Given the description of an element on the screen output the (x, y) to click on. 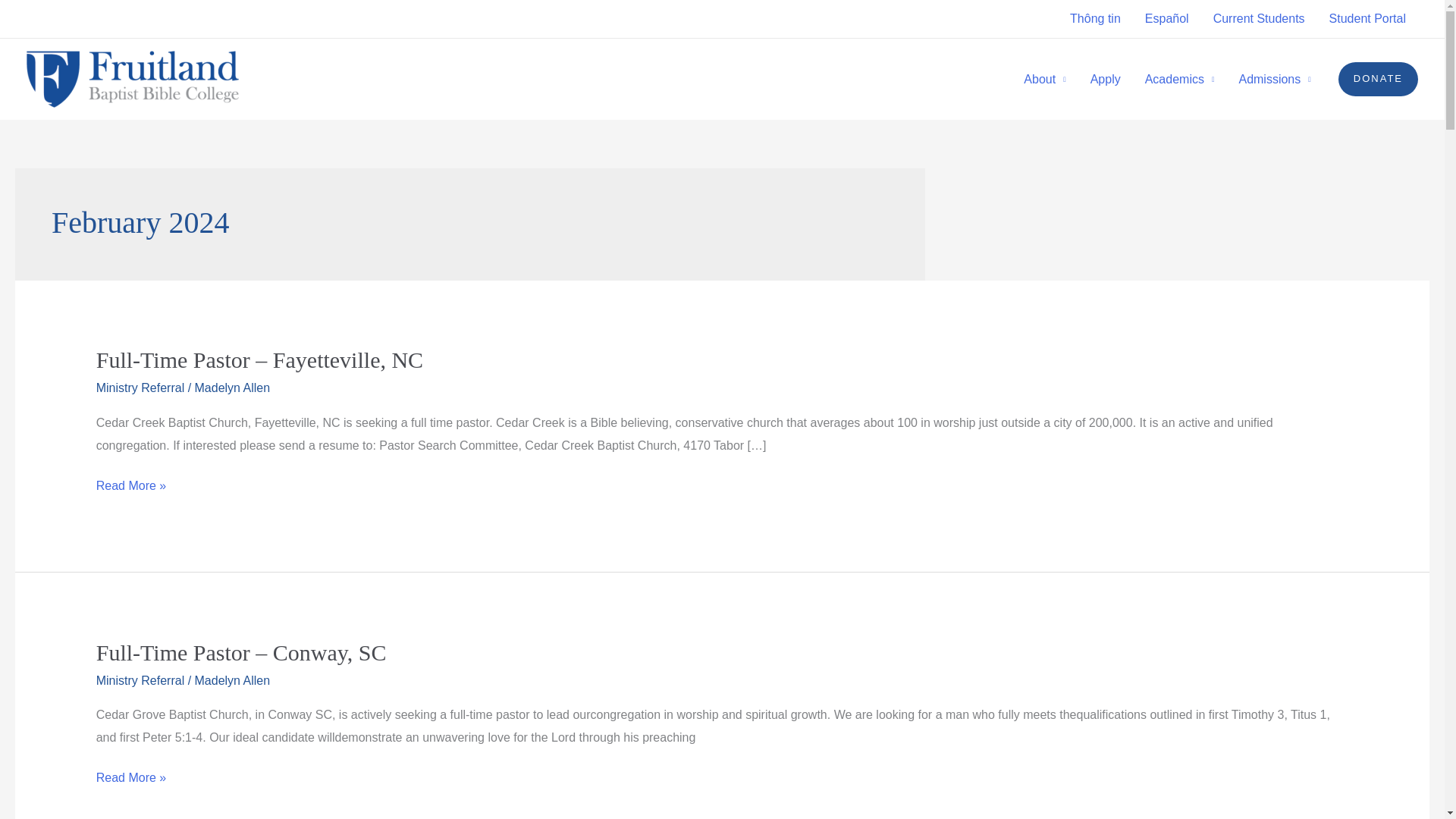
Current Students (1259, 18)
About (1044, 79)
Apply (1105, 79)
Student Portal (1367, 18)
DONATE (1378, 78)
Admissions (1273, 79)
View all posts by Madelyn Allen (232, 680)
View all posts by Madelyn Allen (232, 387)
Academics (1179, 79)
